Given the description of an element on the screen output the (x, y) to click on. 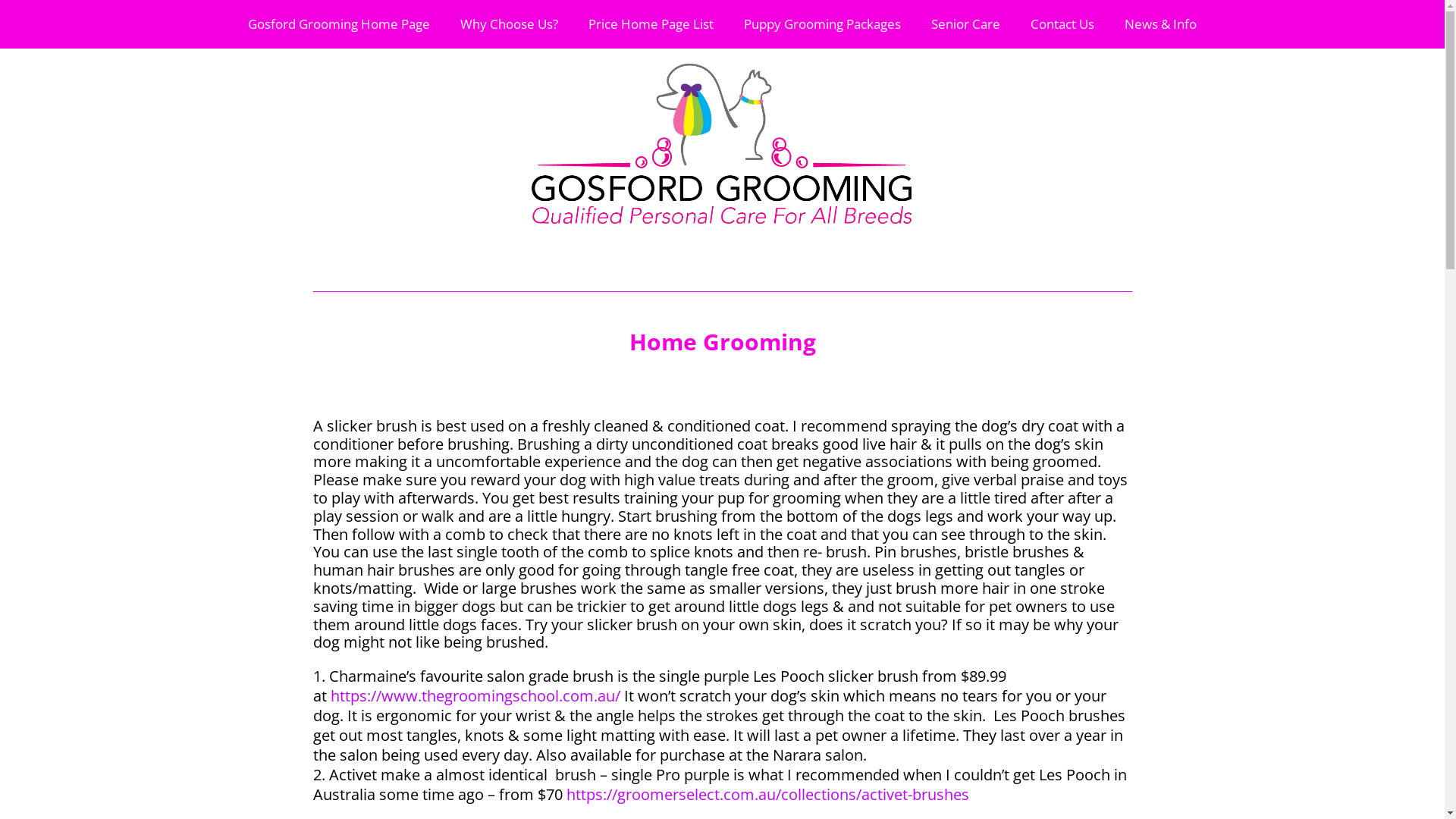
https://www.thegroomingschool.com.au/ Element type: text (475, 695)
Price Home Page List Element type: text (650, 23)
News & Info Element type: text (1160, 23)
Senior Care Element type: text (965, 23)
Why Choose Us? Element type: text (509, 23)
Puppy Grooming Packages Element type: text (821, 23)
Gosford Grooming Home Page Element type: text (338, 23)
https://groomerselect.com.au/collections/activet-brushes Element type: text (766, 794)
Contact Us Element type: text (1062, 23)
